Given the description of an element on the screen output the (x, y) to click on. 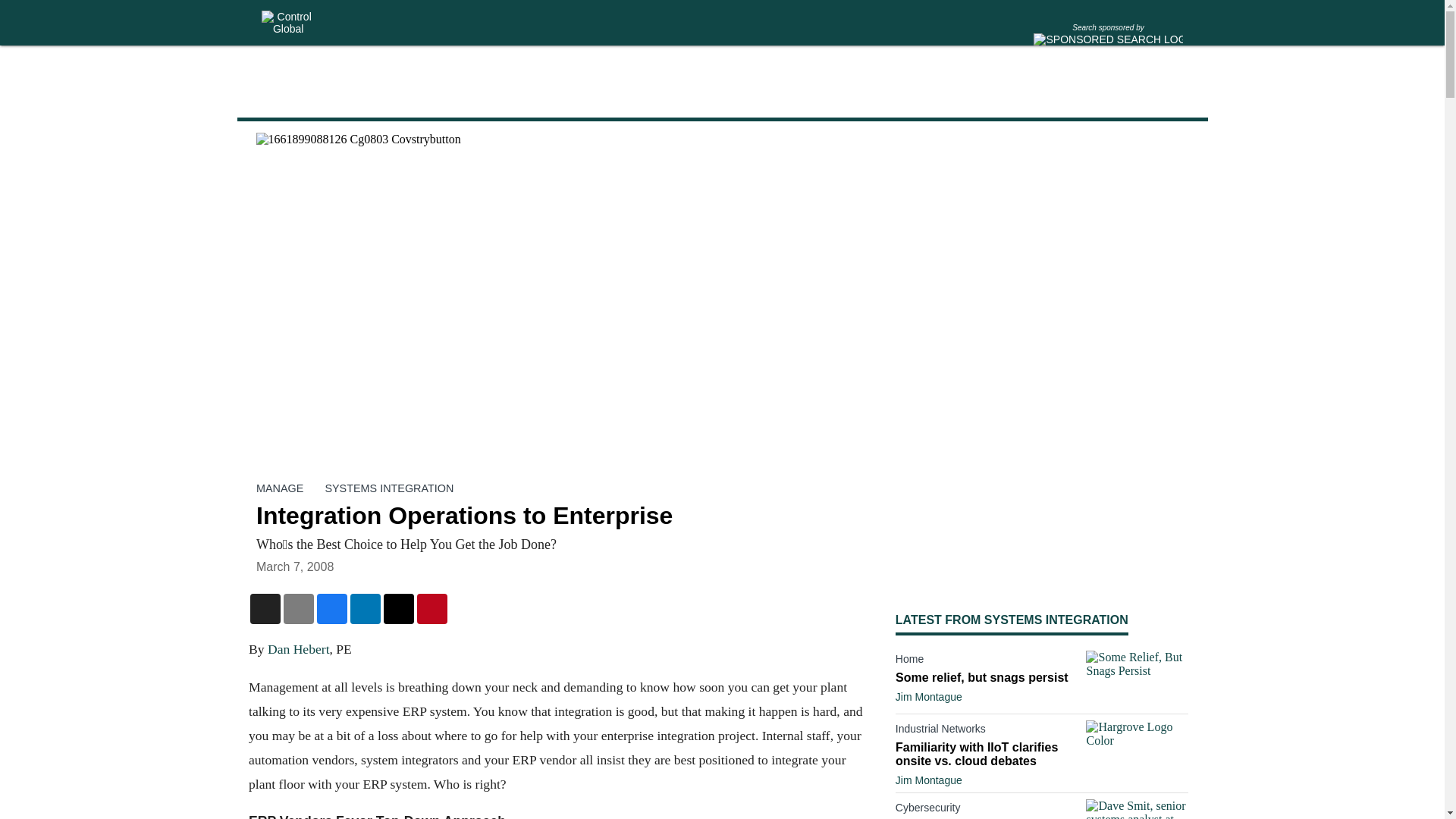
MANAGE (279, 488)
Familiarity with IIoT clarifies onsite vs. cloud debates (986, 754)
Jim Montague (928, 696)
Dan Hebert (297, 648)
Industrial Networks (986, 731)
Some relief, but snags persist (986, 677)
Home (986, 661)
SYSTEMS INTEGRATION (388, 488)
